Given the description of an element on the screen output the (x, y) to click on. 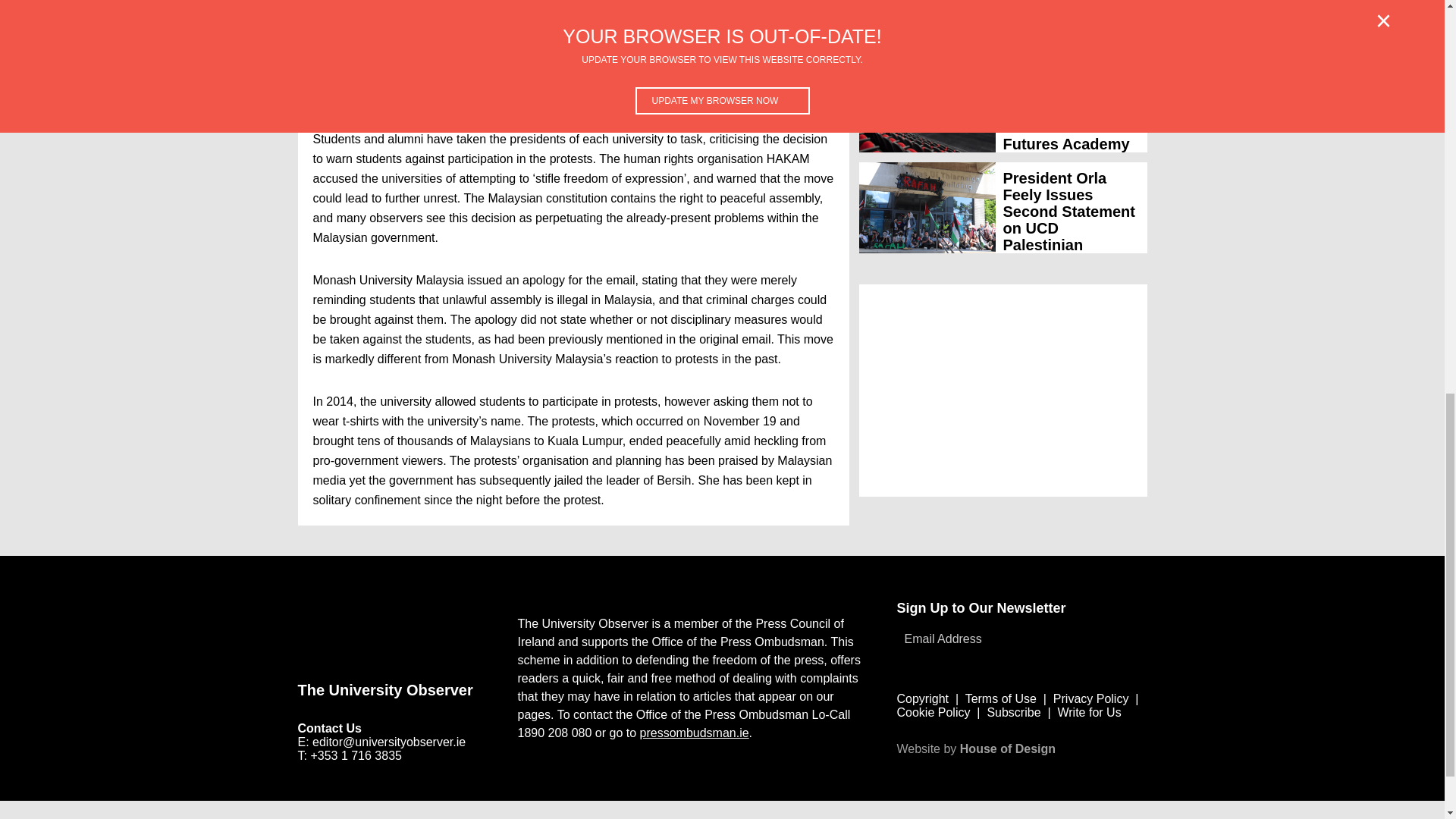
Advertisement (455, 813)
Advertisement (1003, 390)
